Given the description of an element on the screen output the (x, y) to click on. 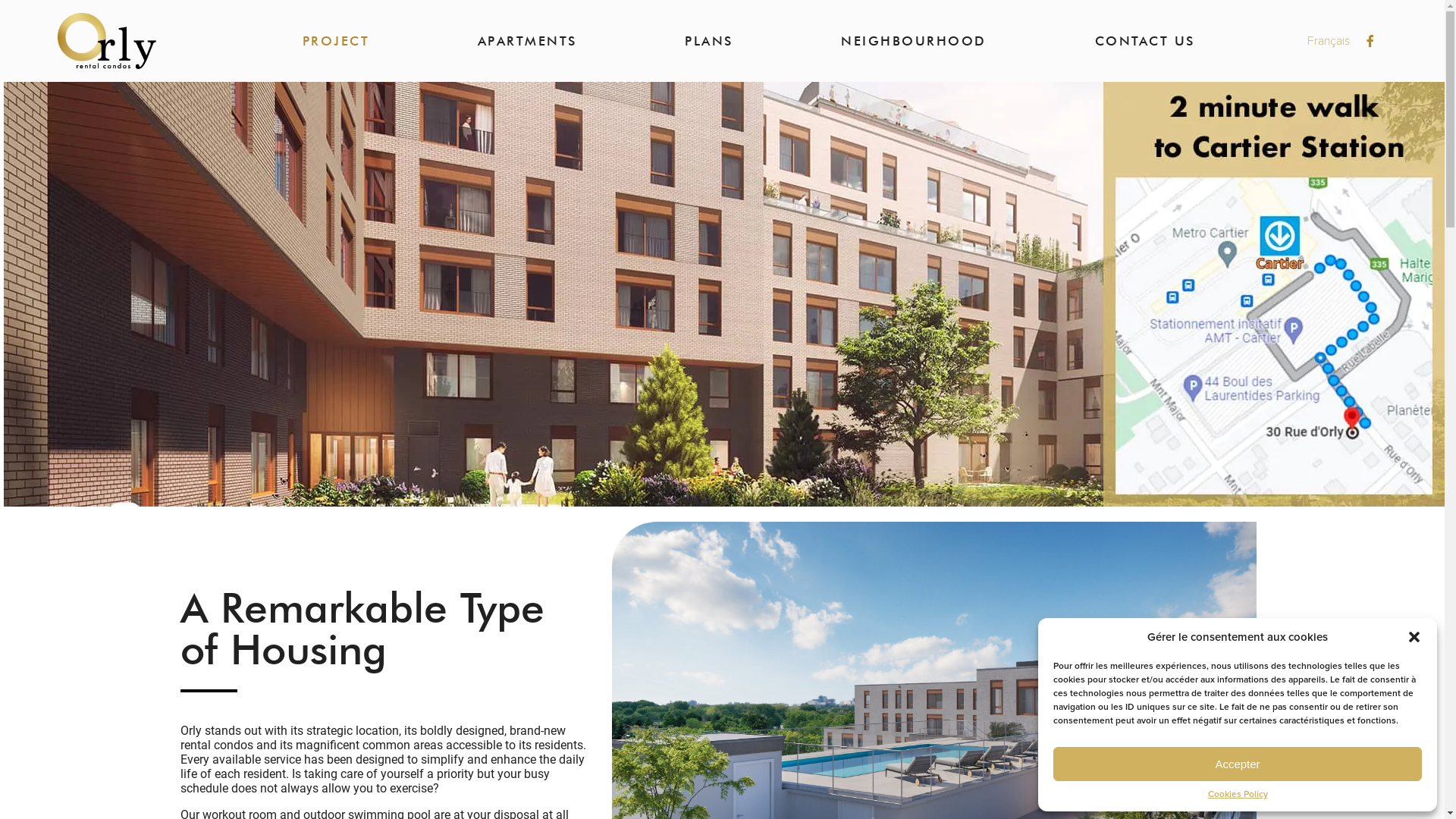
Accepter Element type: text (1237, 763)
NEIGHBOURHOOD Element type: text (913, 40)
Join our
VIP list Element type: text (1394, 769)
CONTACT US Element type: text (1144, 40)
Cookies Policy Element type: text (1237, 794)
PLANS Element type: text (708, 40)
PROJECT Element type: text (336, 40)
APARTMENTS Element type: text (527, 40)
